Given the description of an element on the screen output the (x, y) to click on. 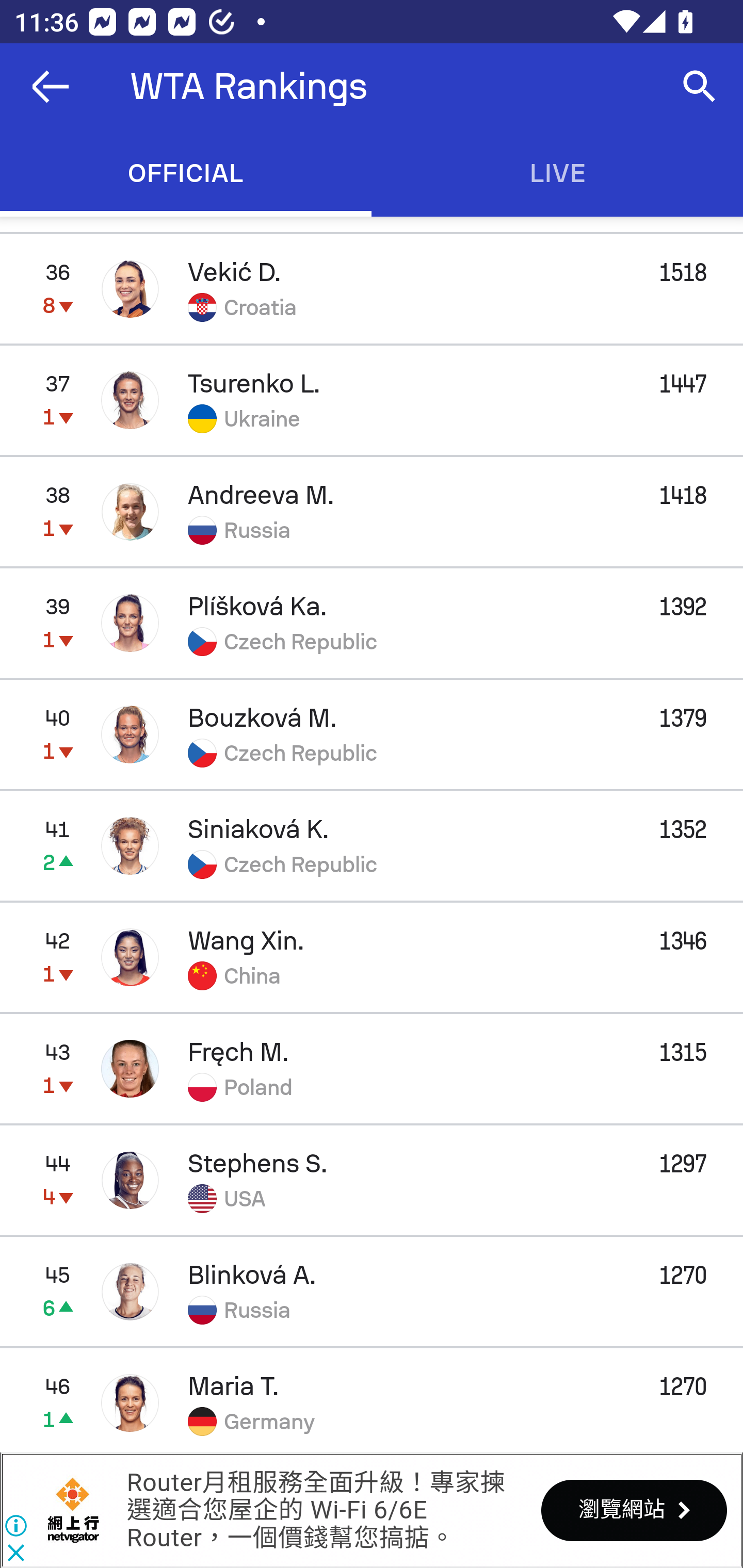
Navigate up (50, 86)
Search (699, 86)
Live LIVE (557, 173)
36 8 Vekić D. 1518 Croatia (371, 288)
37 1 Tsurenko L. 1447 Ukraine (371, 399)
38 1 Andreeva M. 1418 Russia (371, 511)
39 1 Plíšková Ka. 1392 Czech Republic (371, 622)
40 1 Bouzková M. 1379 Czech Republic (371, 734)
41 2 Siniaková K. 1352 Czech Republic (371, 845)
42 1 Wang Xin. 1346 China (371, 957)
43 1 Fręch M. 1315 Poland (371, 1068)
44 4 Stephens S. 1297 USA (371, 1180)
45 6 Blinková A. 1270 Russia (371, 1291)
46 1 Maria T. 1270 Germany (371, 1399)
網上行 Netvigator (73, 1510)
瀏覽網站 (634, 1509)
